Given the description of an element on the screen output the (x, y) to click on. 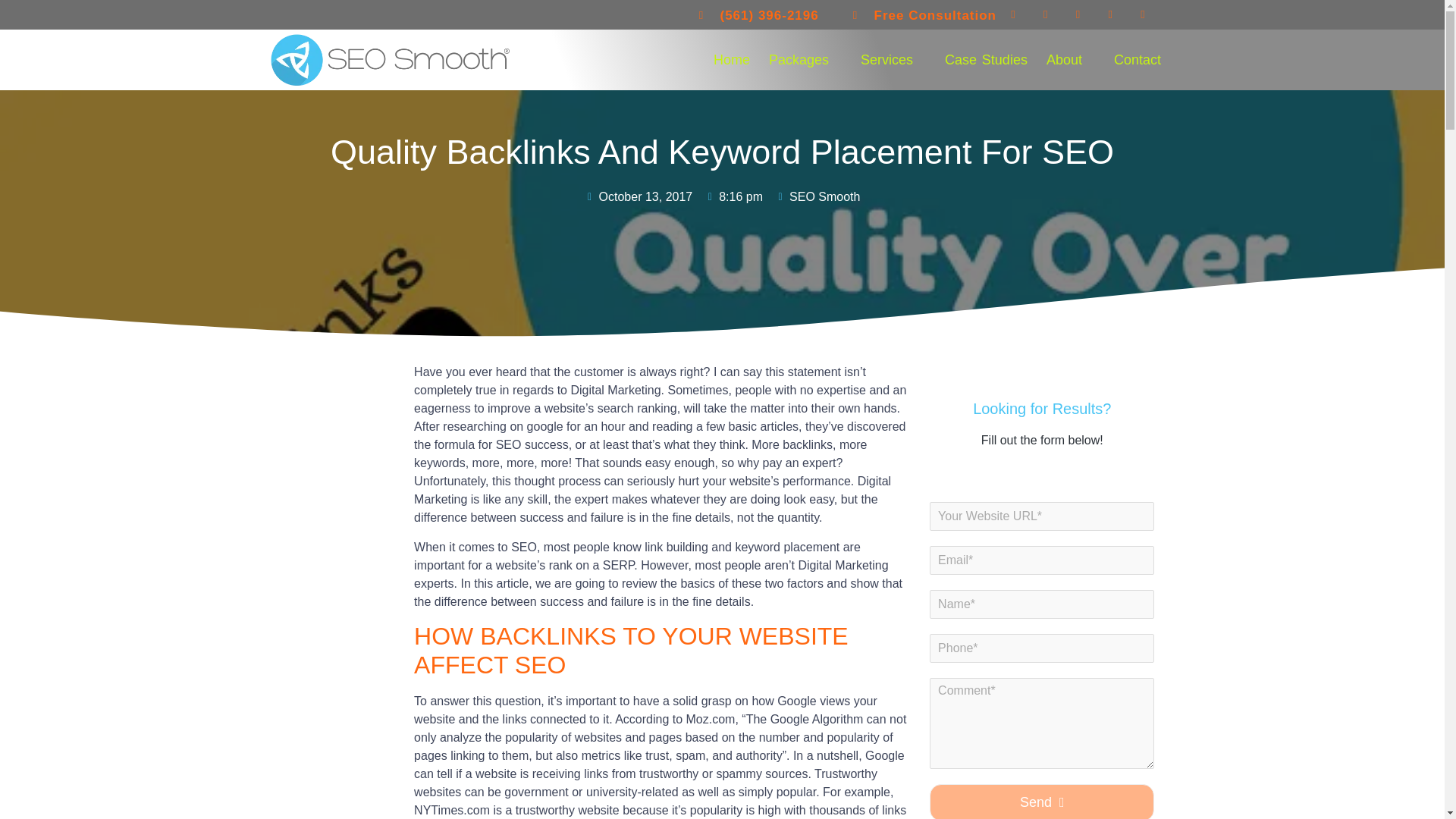
Packages (799, 59)
Services (886, 59)
Free Consultation (924, 15)
Case Studies (986, 59)
Contact (1137, 59)
Home (731, 59)
About (1064, 59)
